Given the description of an element on the screen output the (x, y) to click on. 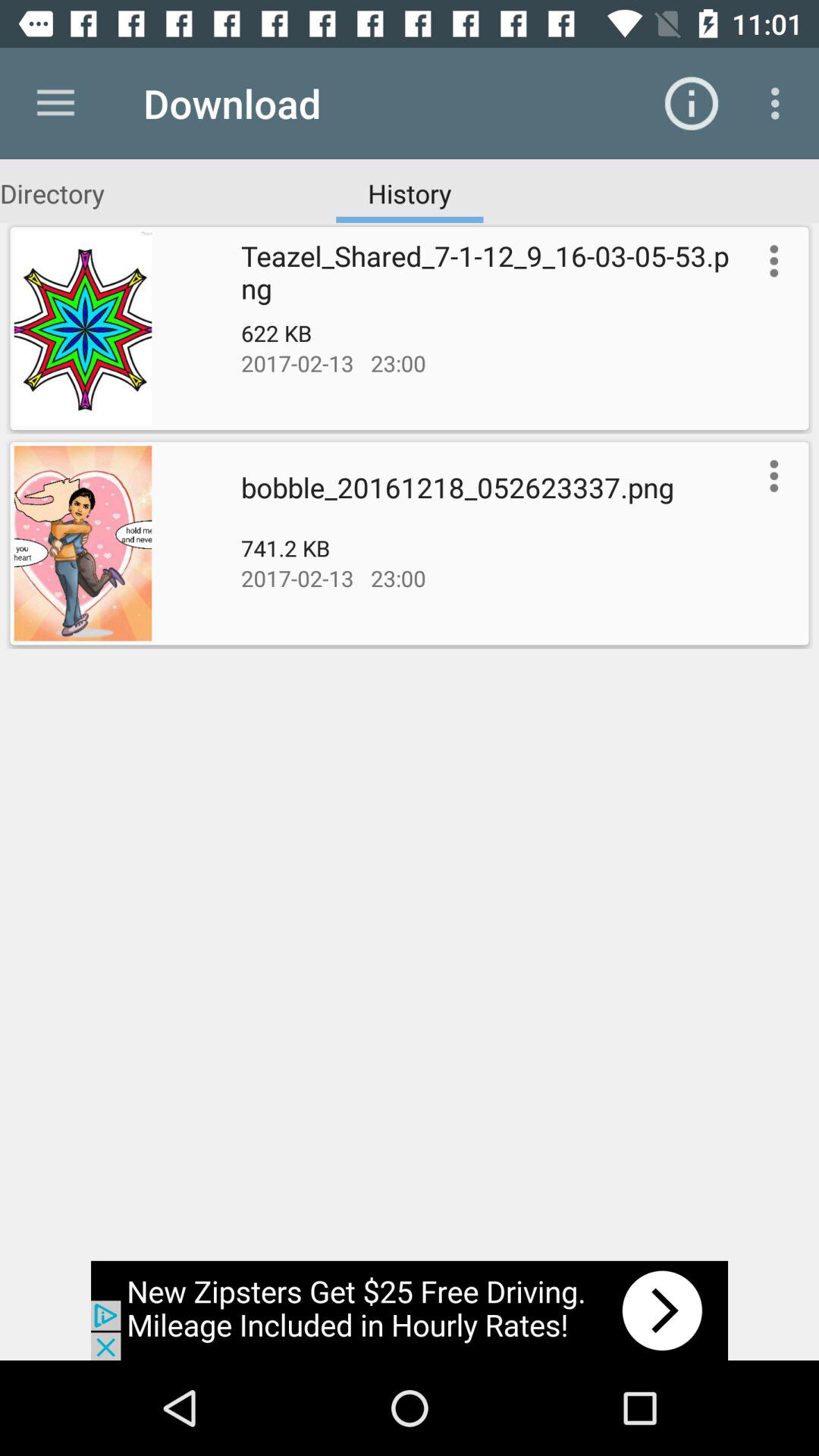
show more options (770, 475)
